Given the description of an element on the screen output the (x, y) to click on. 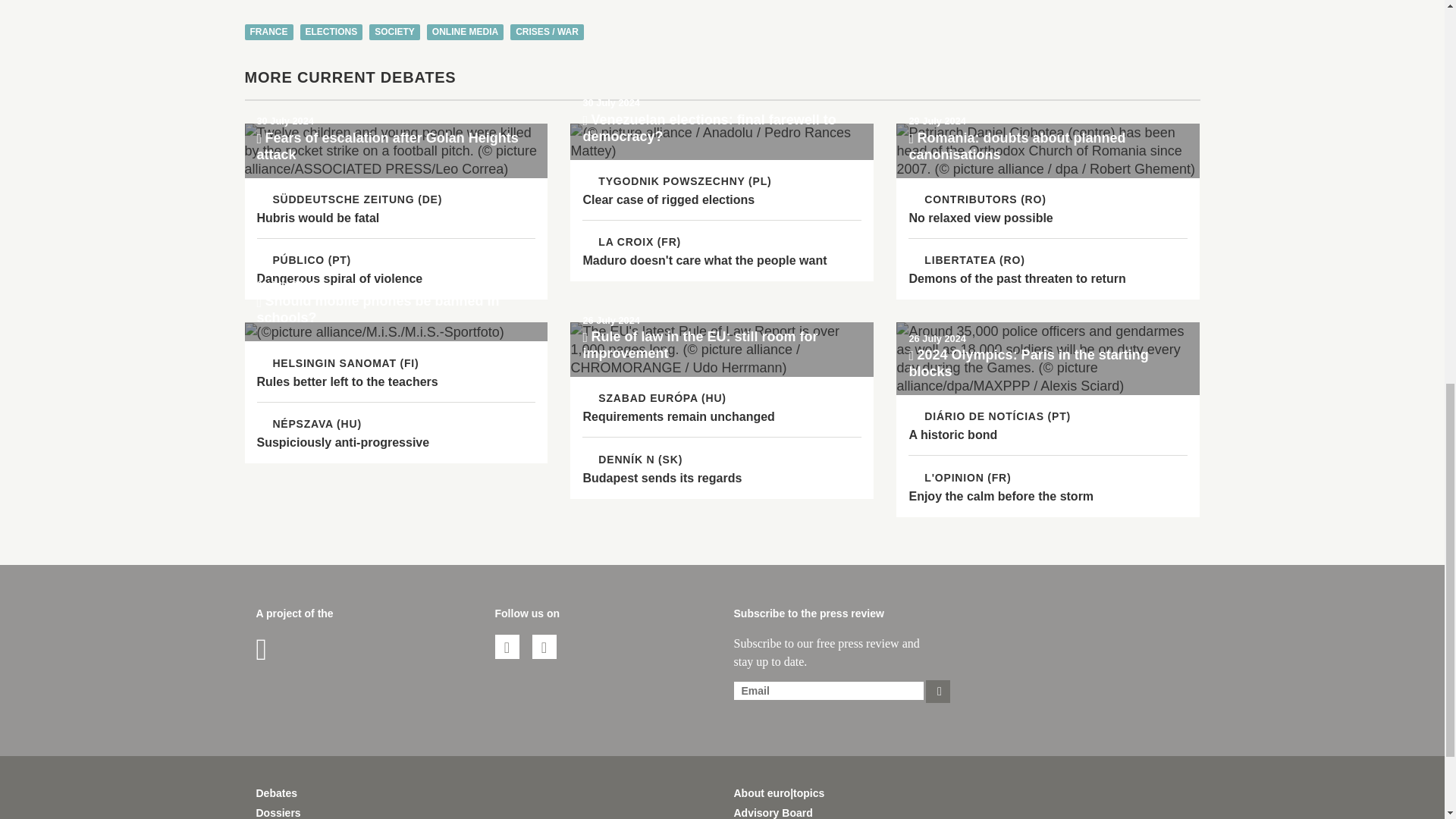
Contributors (977, 199)
Tygodnik Powszechny (676, 181)
Libertatea (966, 259)
La Croix (631, 241)
Fears of escalation after Golan Heights attack (395, 150)
Romania: doubts about planned canonisations (1047, 150)
Venezuelan elections: final farewell to democracy? (721, 141)
